Given the description of an element on the screen output the (x, y) to click on. 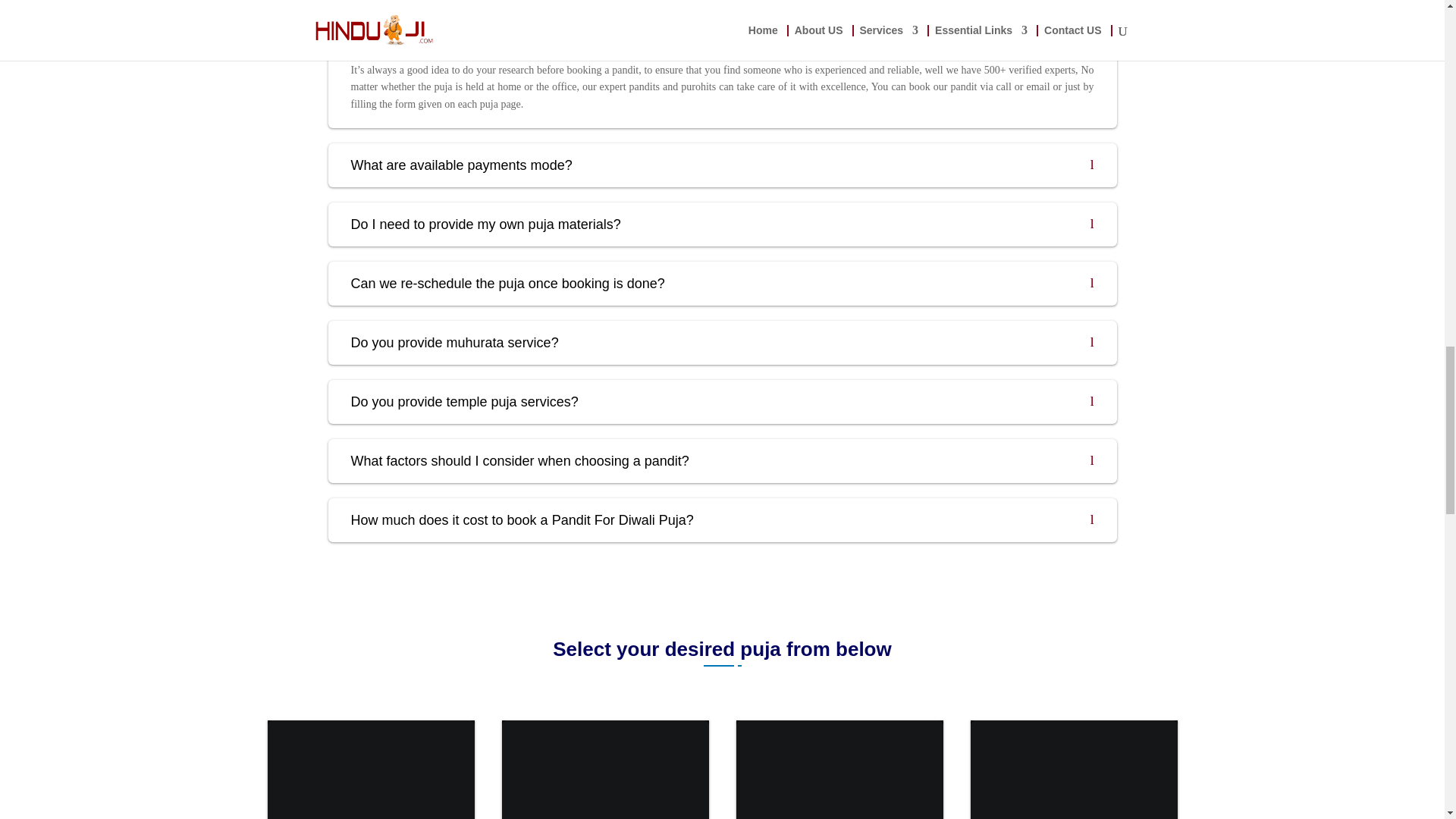
Online Puja (370, 769)
New Business Opening (1074, 769)
Last rites Antim Sanskar (605, 769)
Chudakarna Sanskar (838, 769)
